Given the description of an element on the screen output the (x, y) to click on. 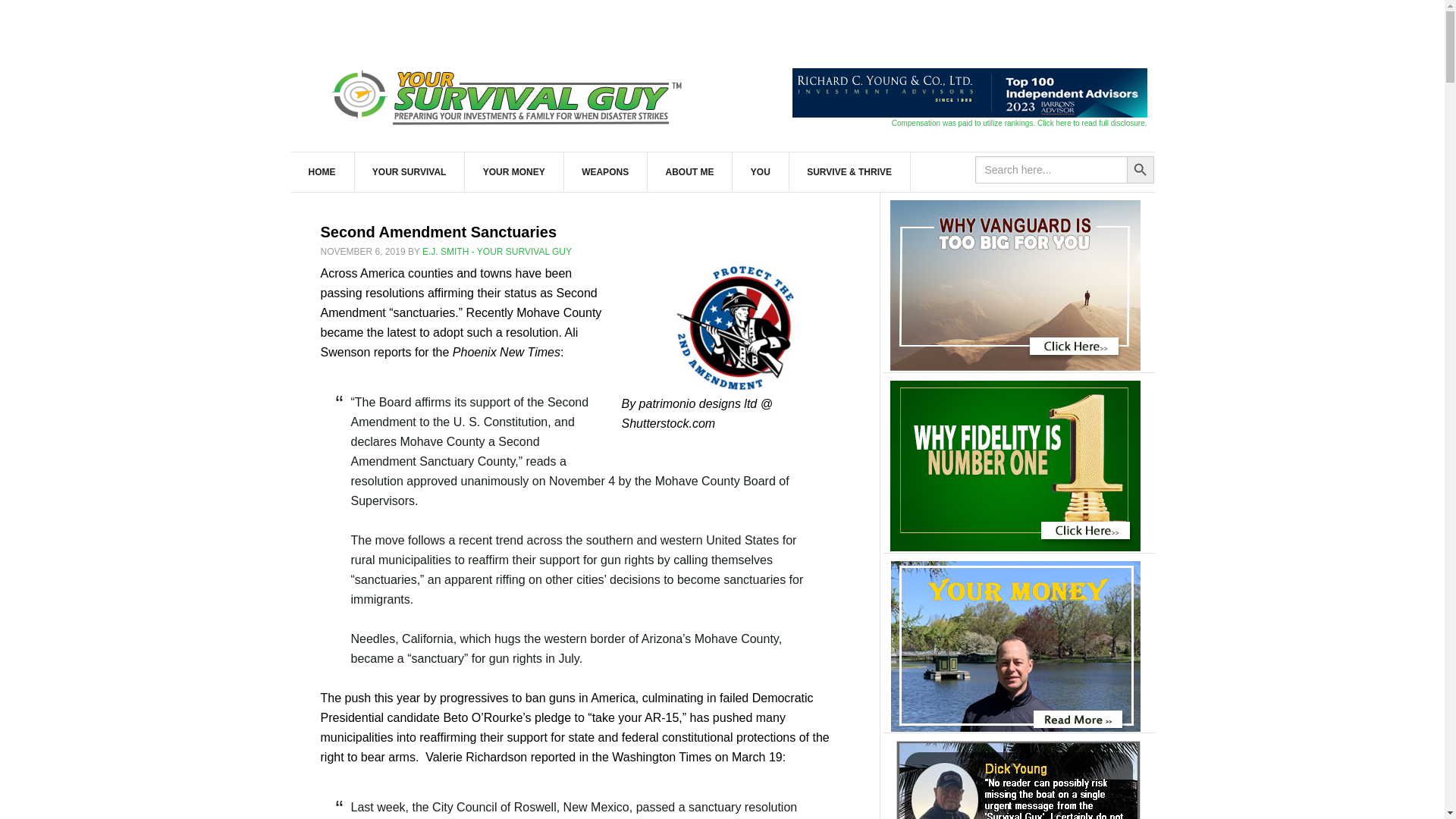
WEAPONS (605, 171)
HOME (321, 171)
YOUR MONEY (514, 171)
YOUR SURVIVAL (409, 171)
YOUR SURVIVAL GUY (509, 94)
